Given the description of an element on the screen output the (x, y) to click on. 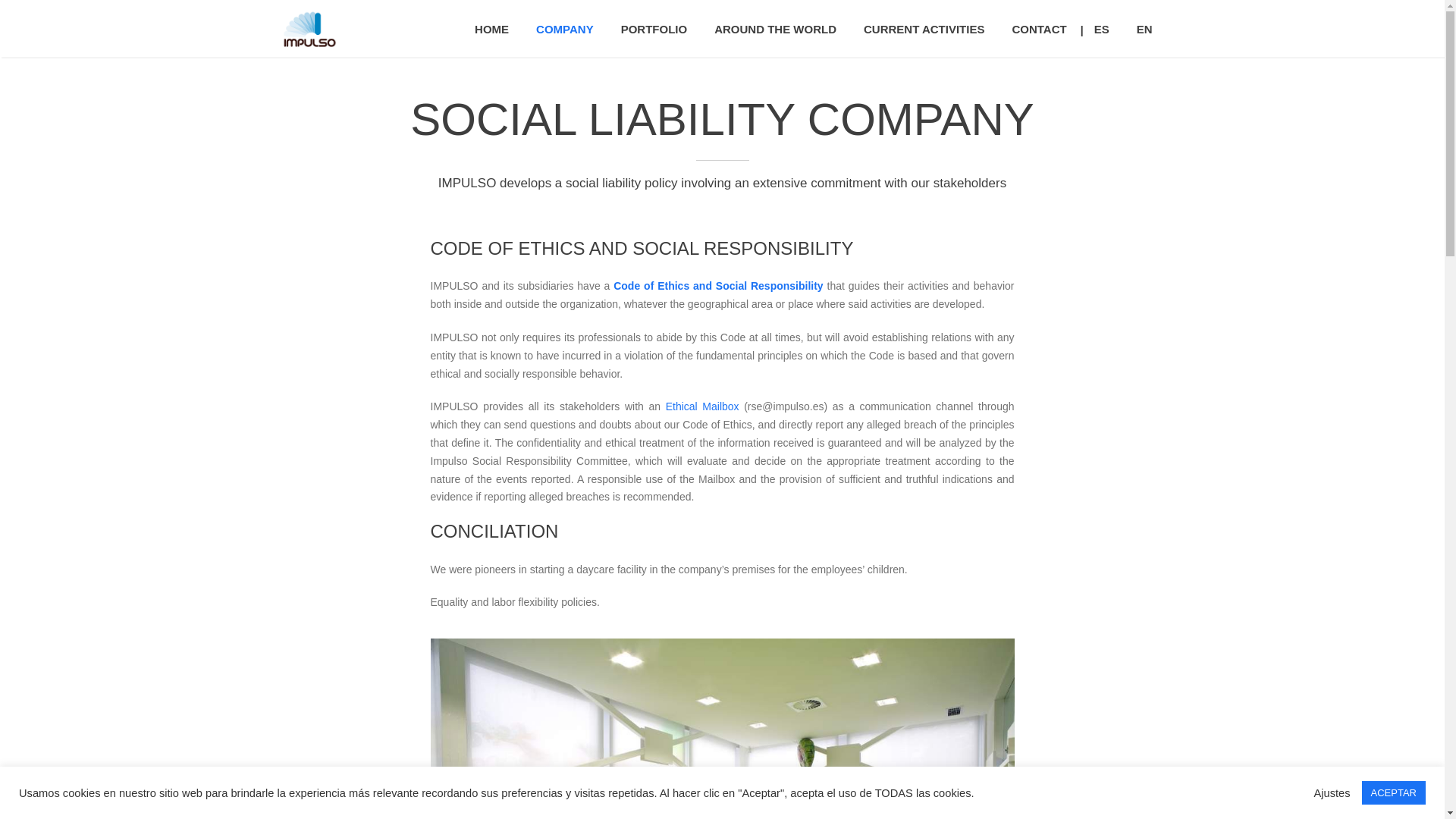
COMPANY (564, 28)
Code of Ethics and Social Responsibility (717, 285)
CONTACT (1038, 28)
HOME (491, 28)
AROUND THE WORLD (775, 28)
PORTFOLIO (654, 28)
CURRENT ACTIVITIES (923, 28)
Ethical Mailbox (702, 406)
